Given the description of an element on the screen output the (x, y) to click on. 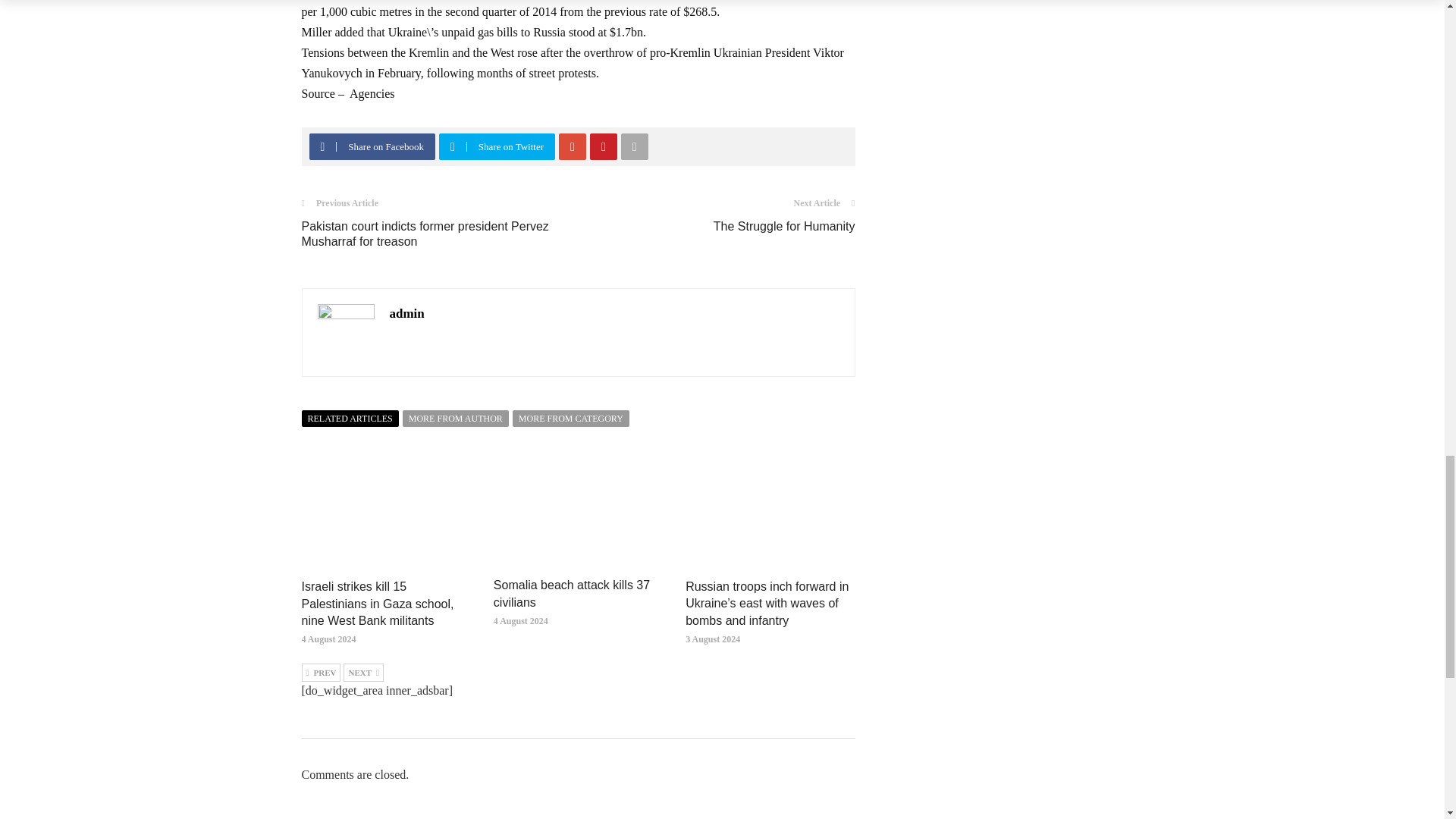
Previous (320, 672)
Next (363, 672)
